Given the description of an element on the screen output the (x, y) to click on. 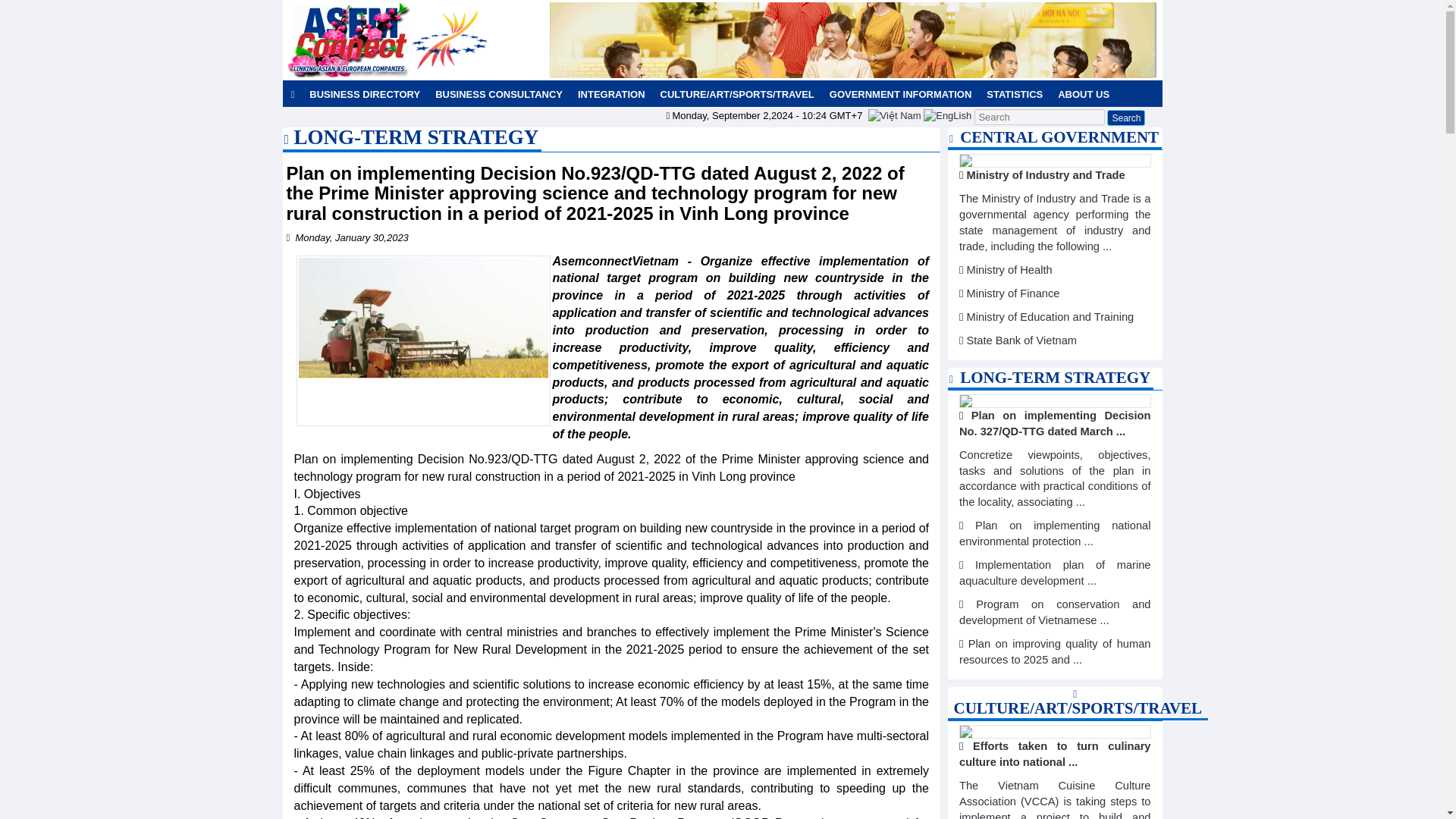
GOVERNMENT INFORMATION (900, 94)
Search (1125, 117)
ABOUT US (1082, 94)
BUSINESS DIRECTORY (364, 94)
STATISTICS (1013, 94)
INTEGRATION (611, 94)
BUSINESS CONSULTANCY (499, 94)
